Given the description of an element on the screen output the (x, y) to click on. 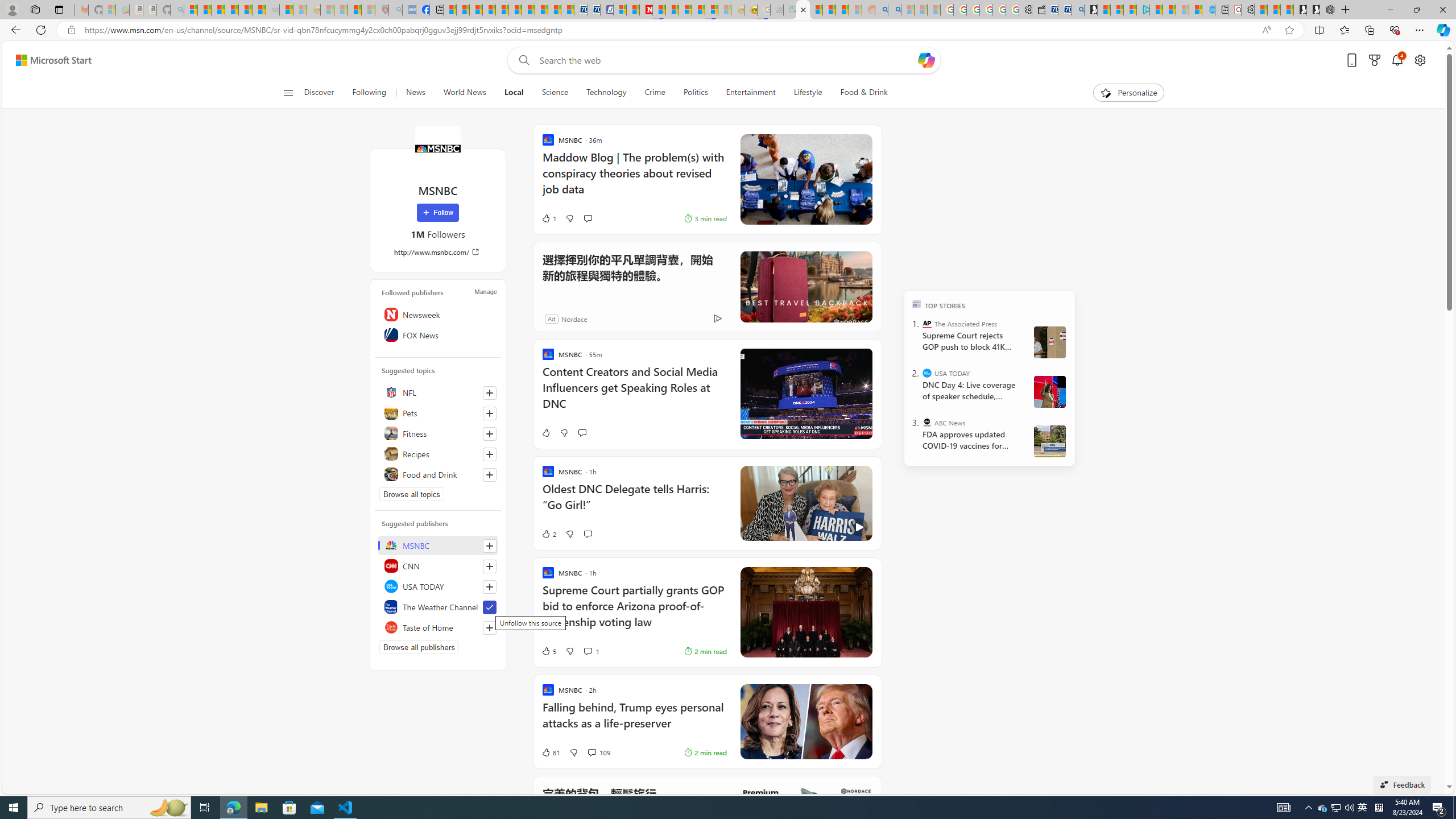
Follow this topic (489, 474)
Fitness (437, 433)
Pets (437, 412)
NFL (437, 392)
81 Like (549, 752)
